Given the description of an element on the screen output the (x, y) to click on. 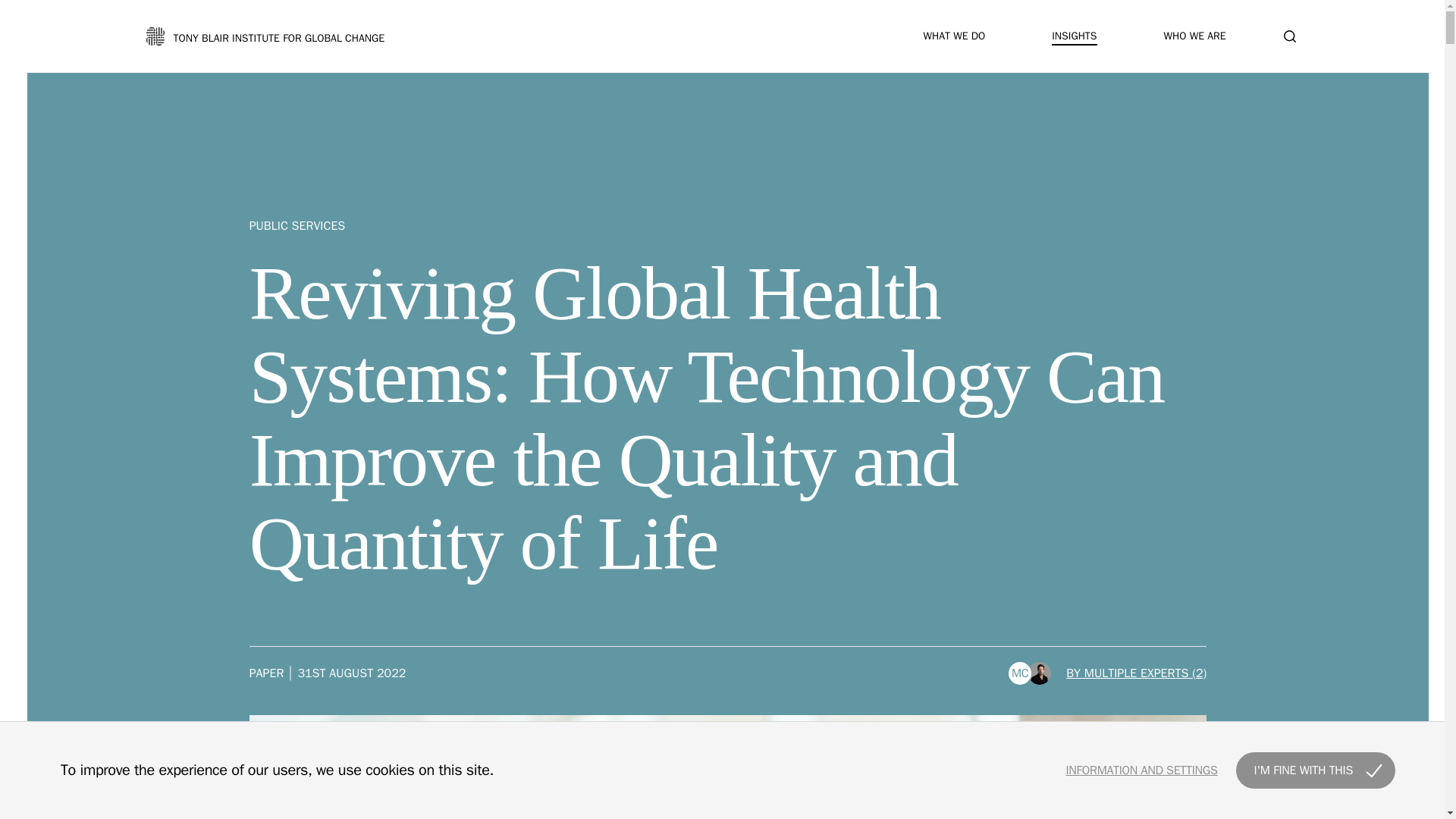
PUBLIC SERVICES (727, 234)
INSIGHTS (1073, 35)
TONY BLAIR INSTITUTE FOR GLOBAL CHANGE (264, 36)
INSIGHTS (1073, 35)
